Given the description of an element on the screen output the (x, y) to click on. 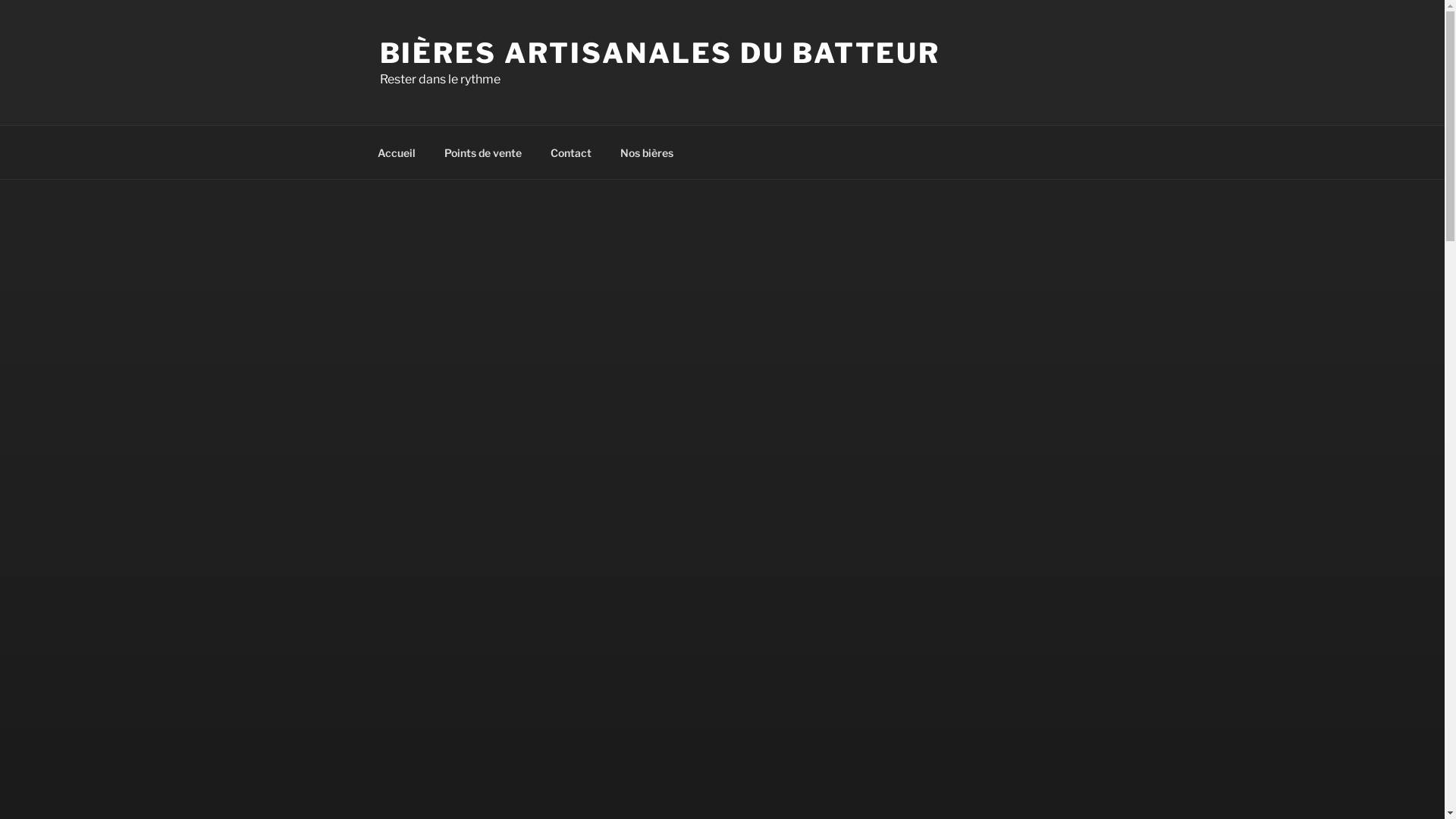
Accueil Element type: text (396, 151)
Aller au contenu principal Element type: text (0, 0)
Contact Element type: text (570, 151)
Points de vente Element type: text (482, 151)
